Given the description of an element on the screen output the (x, y) to click on. 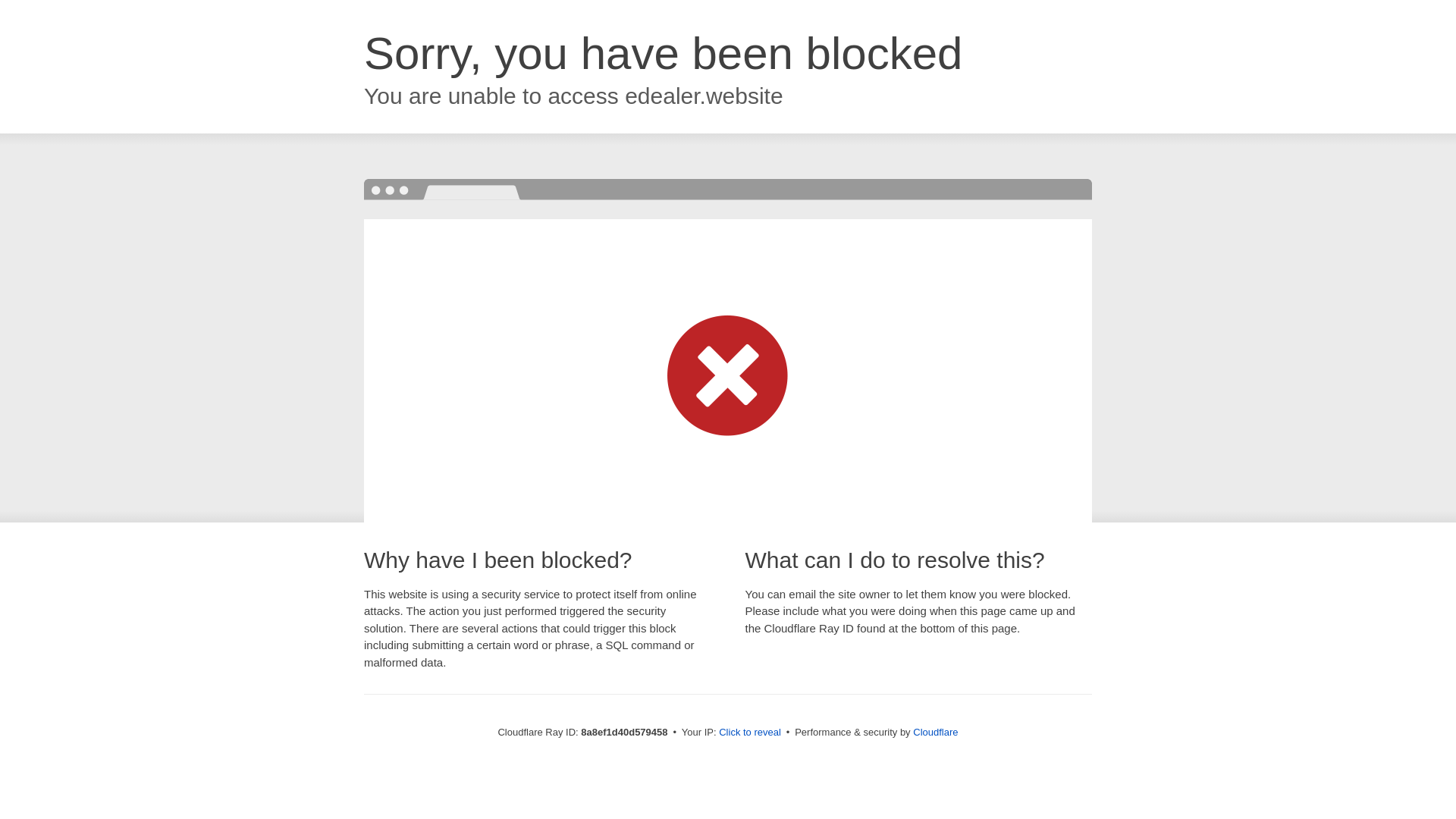
Click to reveal (749, 732)
Cloudflare (935, 731)
